Given the description of an element on the screen output the (x, y) to click on. 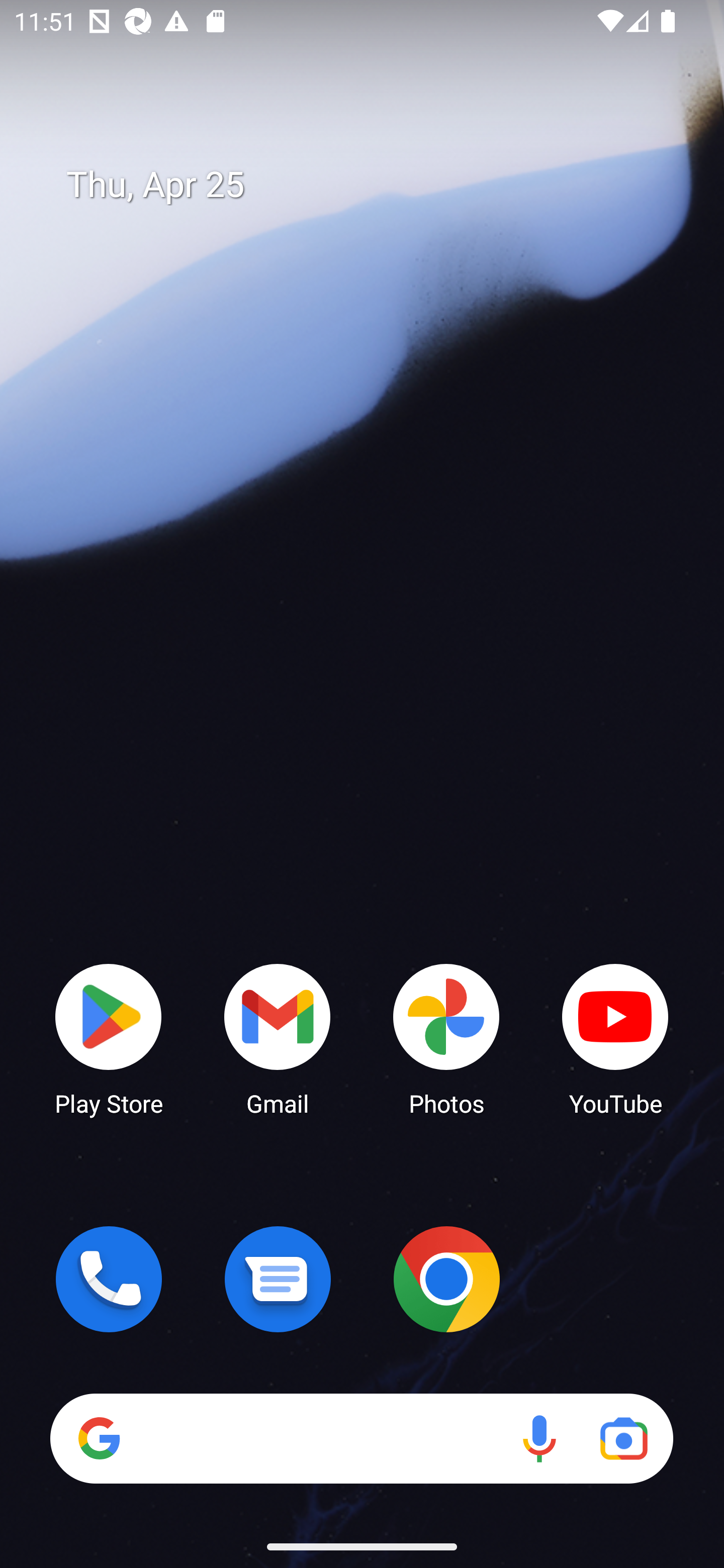
Thu, Apr 25 (375, 184)
Play Store (108, 1038)
Gmail (277, 1038)
Photos (445, 1038)
YouTube (615, 1038)
Phone (108, 1279)
Messages (277, 1279)
Chrome (446, 1279)
Search Voice search Google Lens (361, 1438)
Voice search (539, 1438)
Google Lens (623, 1438)
